Given the description of an element on the screen output the (x, y) to click on. 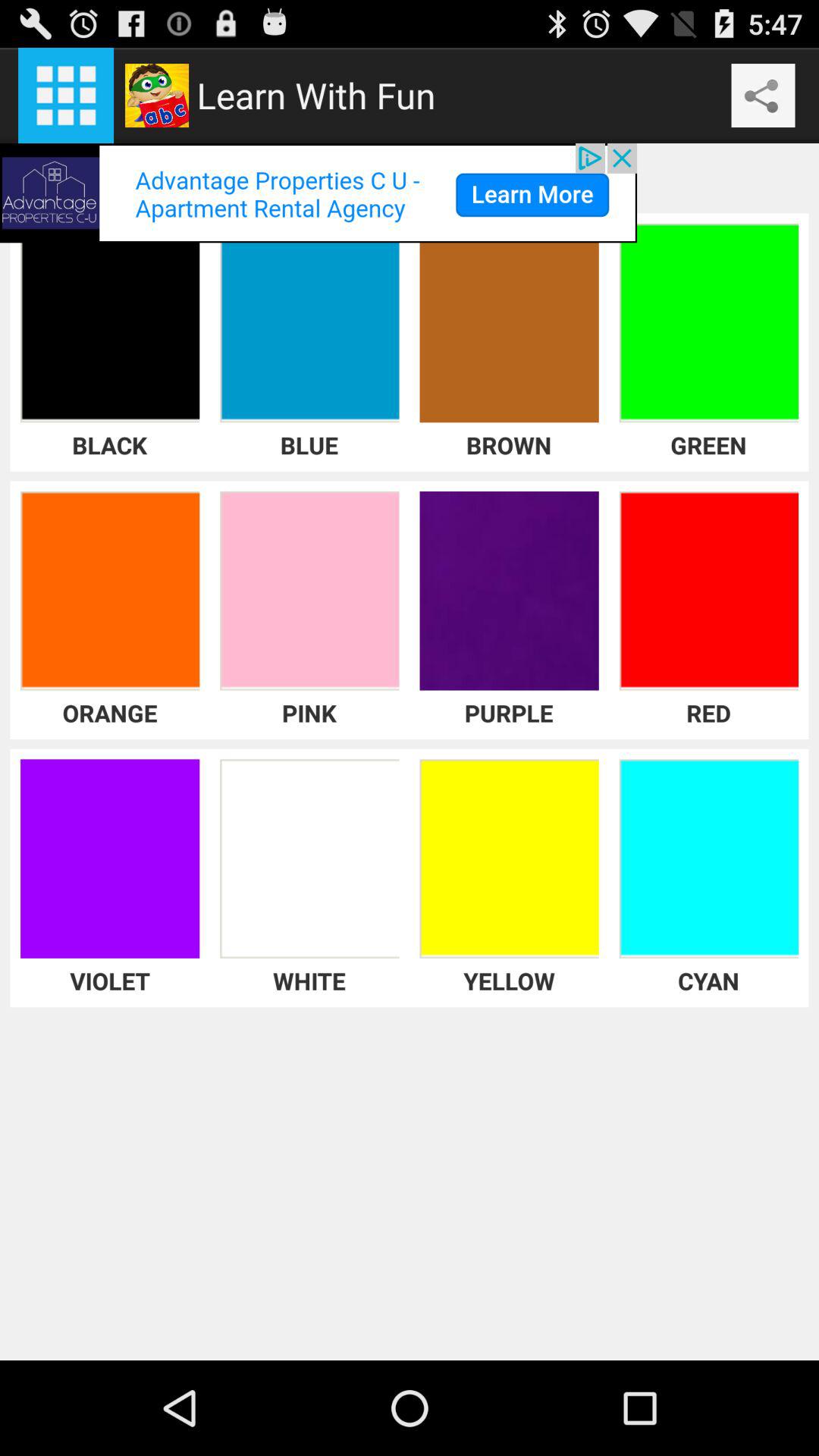
advertisements (318, 192)
